Given the description of an element on the screen output the (x, y) to click on. 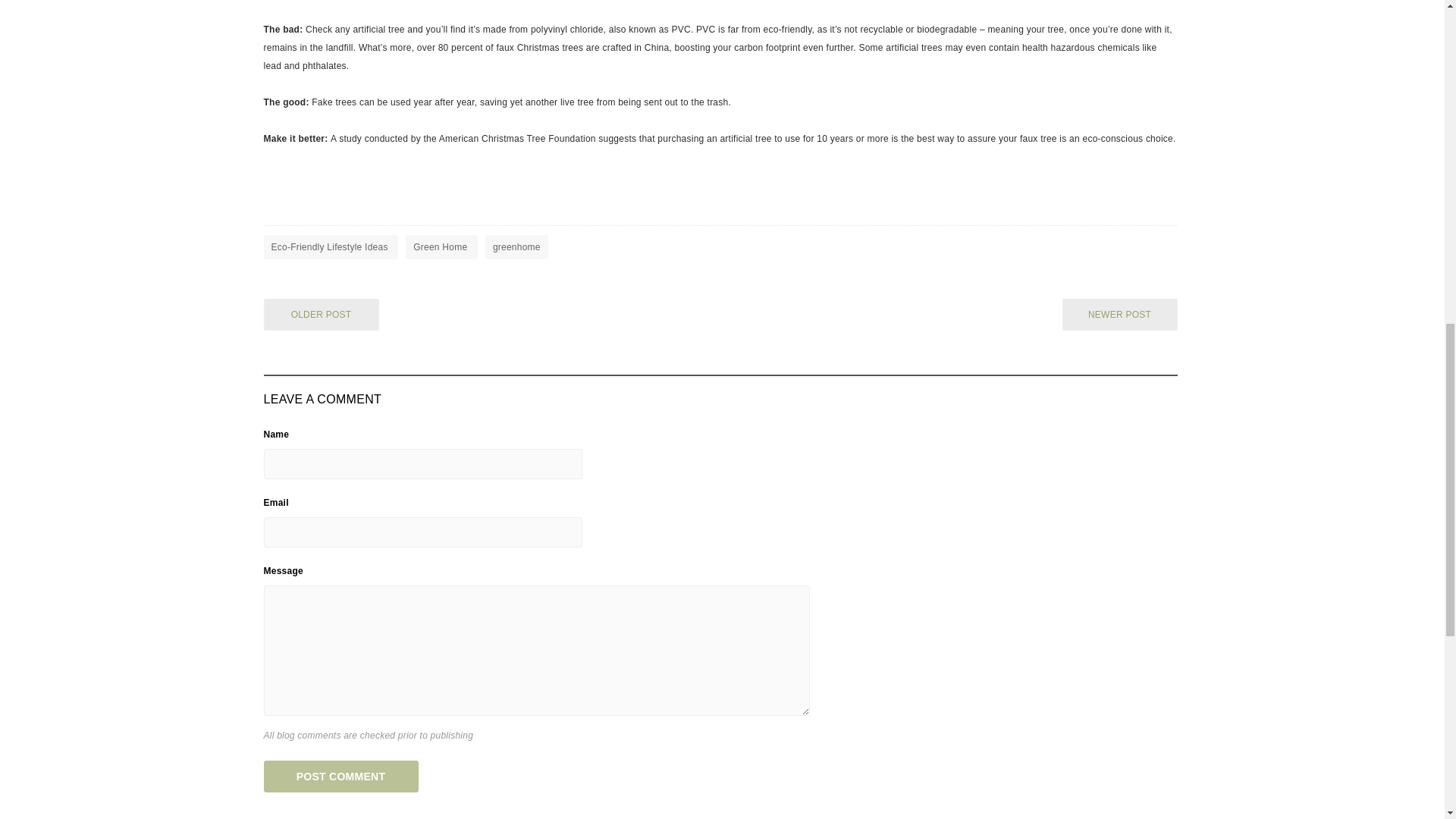
Post comment (341, 776)
